Given the description of an element on the screen output the (x, y) to click on. 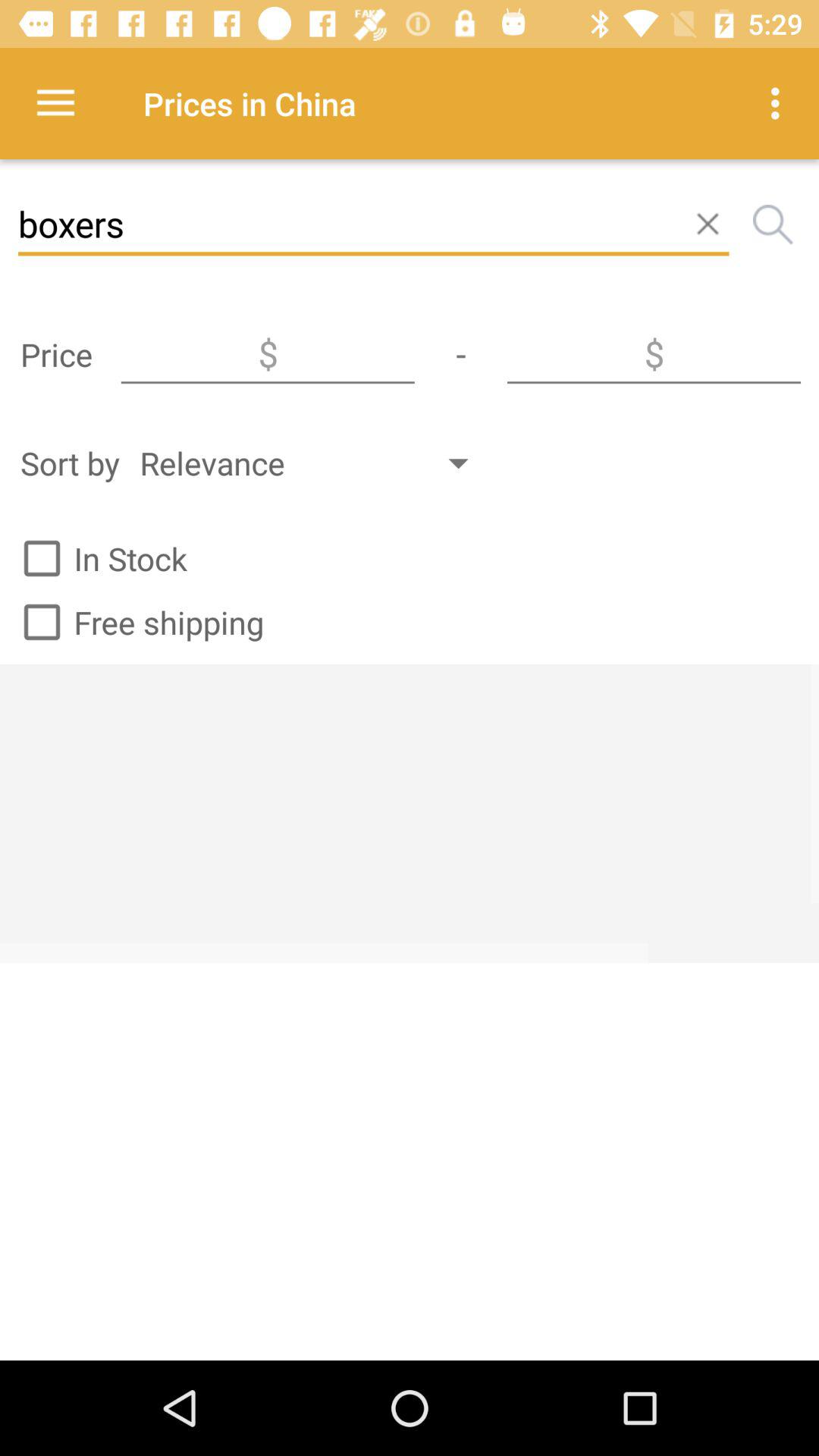
turn on free shipping icon (136, 622)
